Given the description of an element on the screen output the (x, y) to click on. 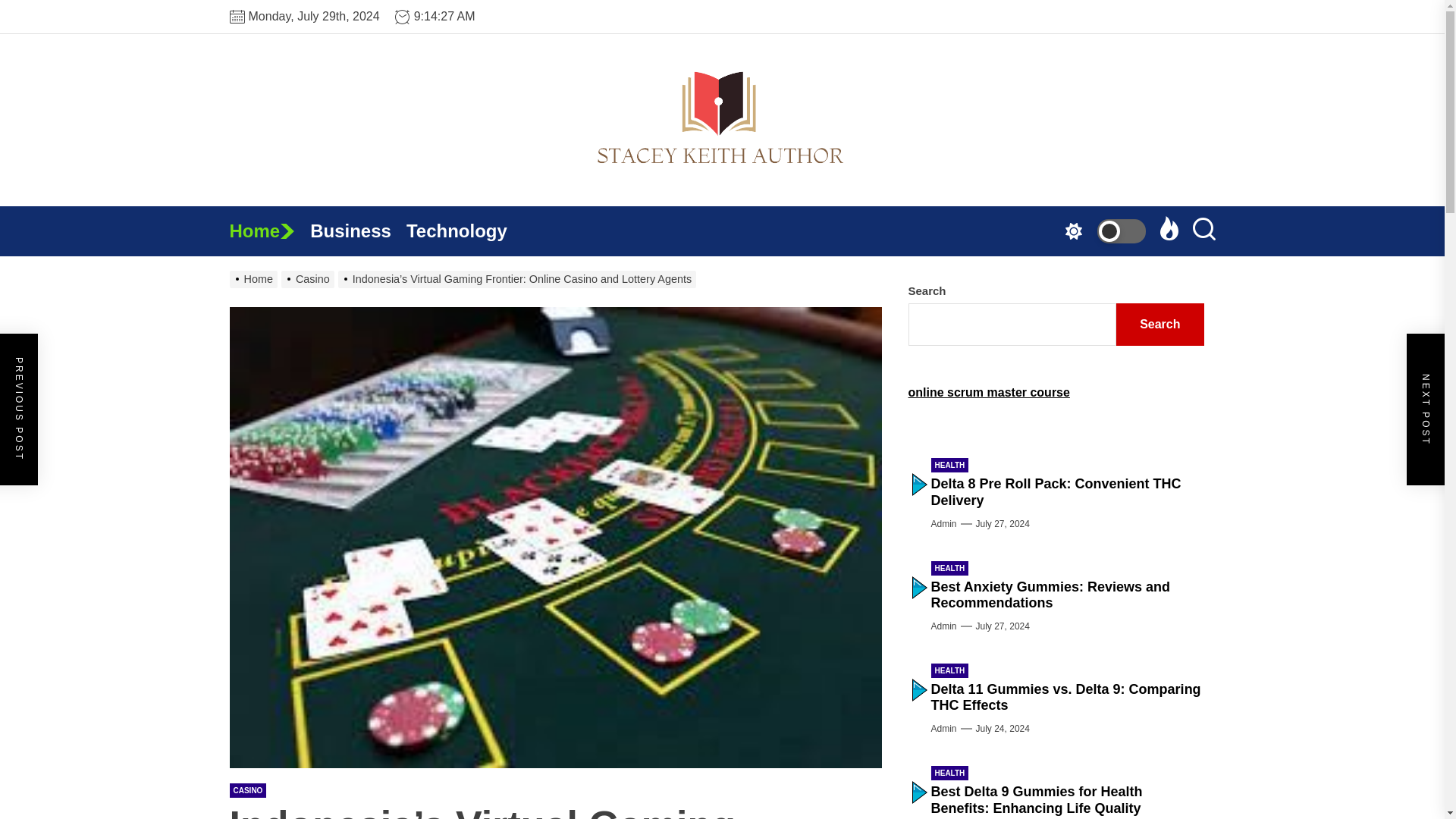
Home (269, 231)
Home (254, 278)
Business (358, 231)
Casino (309, 278)
Best Anxiety Gummies: Reviews and Recommendations (1050, 594)
Delta 8 Pre Roll Pack: Convenient THC Delivery (1055, 491)
Delta 11 Gummies vs. Delta 9: Comparing THC Effects (1066, 697)
Stacey Keith Author (989, 226)
Technology (464, 231)
Home (269, 231)
CASINO (247, 789)
